Given the description of an element on the screen output the (x, y) to click on. 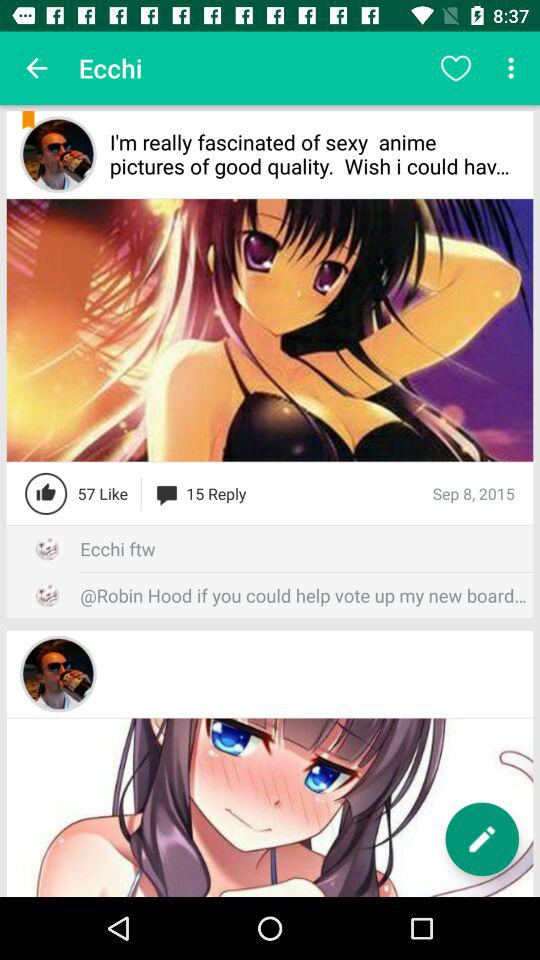
click icon to the right of ecchi  item (455, 67)
